Given the description of an element on the screen output the (x, y) to click on. 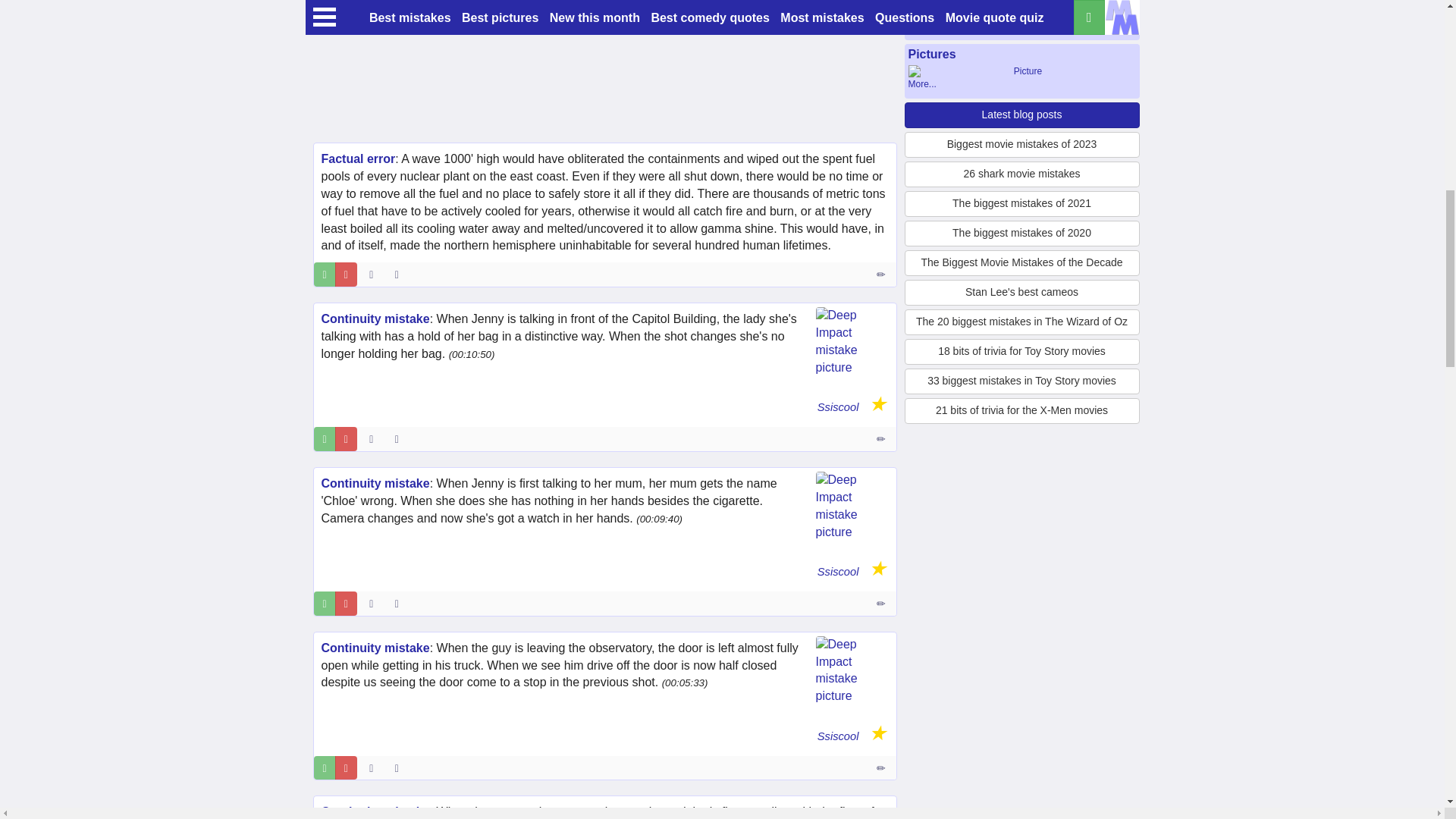
Share this entry (399, 274)
Entry 328368 (881, 274)
ID 328368: 22nd January 2021 (370, 274)
I dislike this (345, 274)
I like this (325, 274)
